Given the description of an element on the screen output the (x, y) to click on. 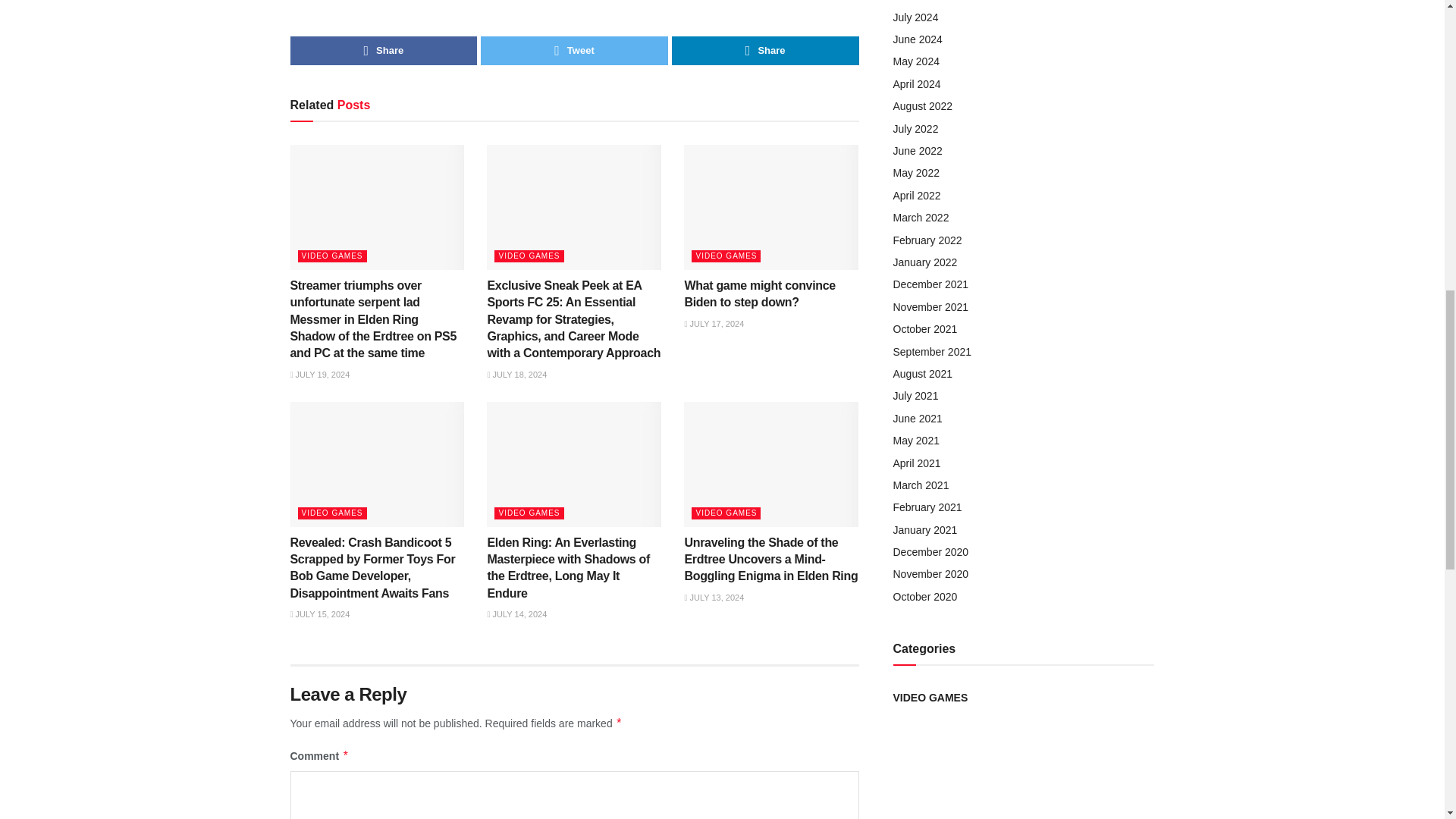
What game might convince Biden to step down? (759, 293)
VIDEO GAMES (529, 512)
VIDEO GAMES (725, 256)
VIDEO GAMES (331, 512)
Share (765, 50)
VIDEO GAMES (529, 256)
VIDEO GAMES (331, 256)
JULY 15, 2024 (319, 614)
Tweet (574, 50)
JULY 19, 2024 (319, 374)
Share (383, 50)
JULY 18, 2024 (516, 374)
